Given the description of an element on the screen output the (x, y) to click on. 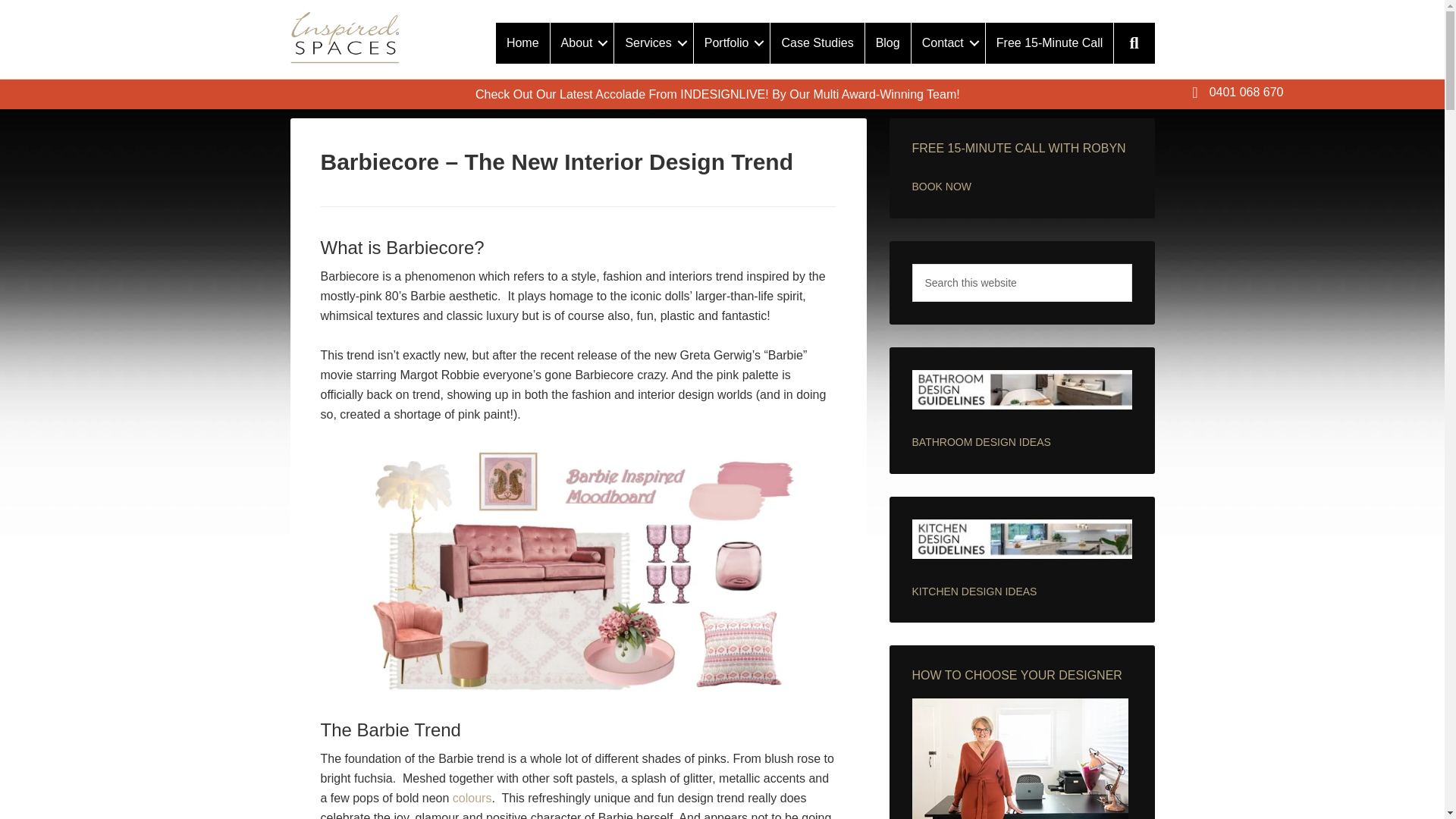
Check Out Our Latest Accolade From INDESIGNLIVE! (622, 93)
About (582, 42)
Contact (948, 42)
Case Studies (816, 42)
Home (523, 42)
inspired-spaces-interior-design-logo (343, 37)
Services (653, 42)
colours (472, 797)
0401 068 670 (1237, 97)
Portfolio (732, 42)
Free 15-Minute Call (1049, 42)
Blog (887, 42)
